Given the description of an element on the screen output the (x, y) to click on. 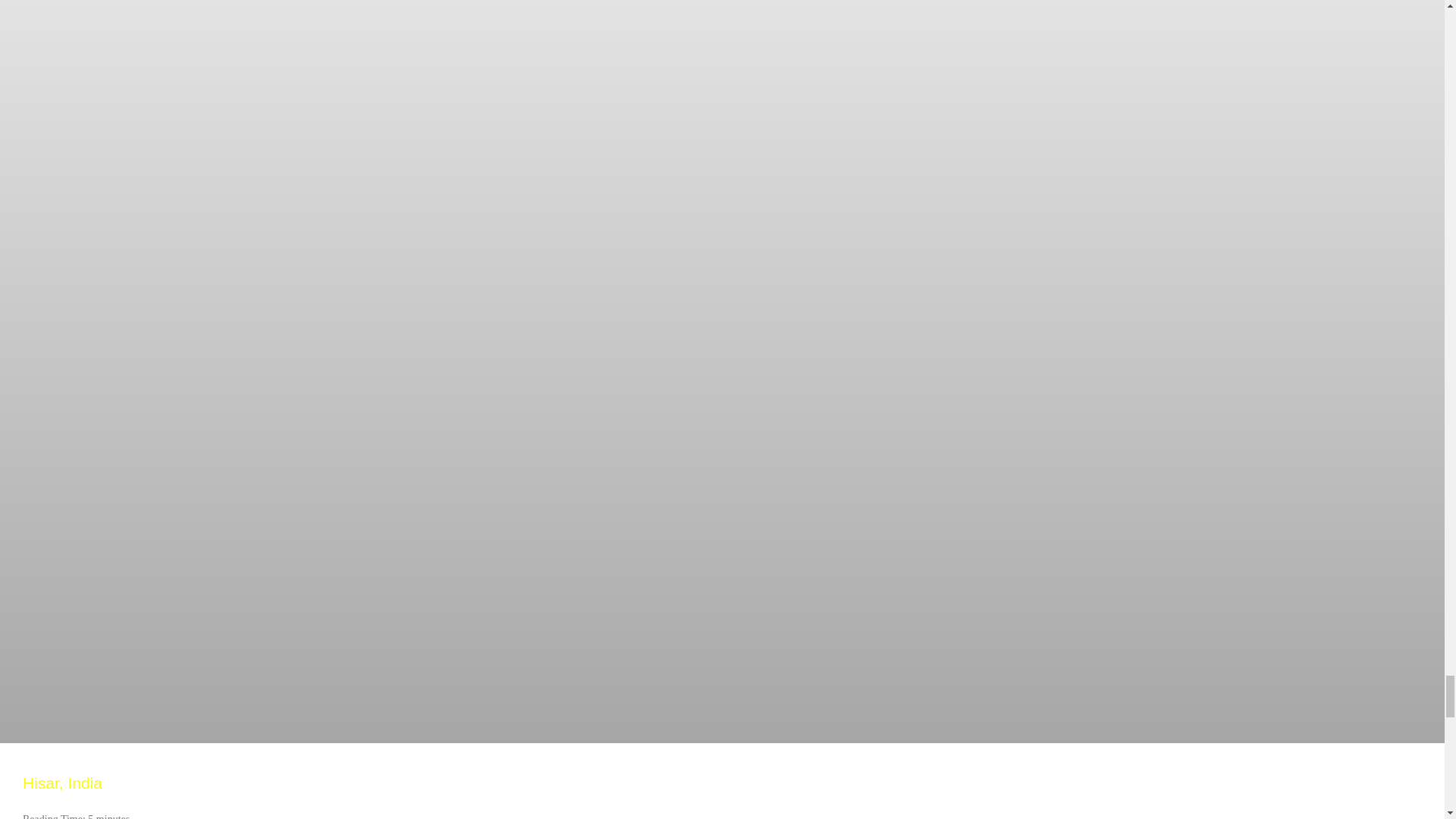
Hisar, India (62, 782)
